Given the description of an element on the screen output the (x, y) to click on. 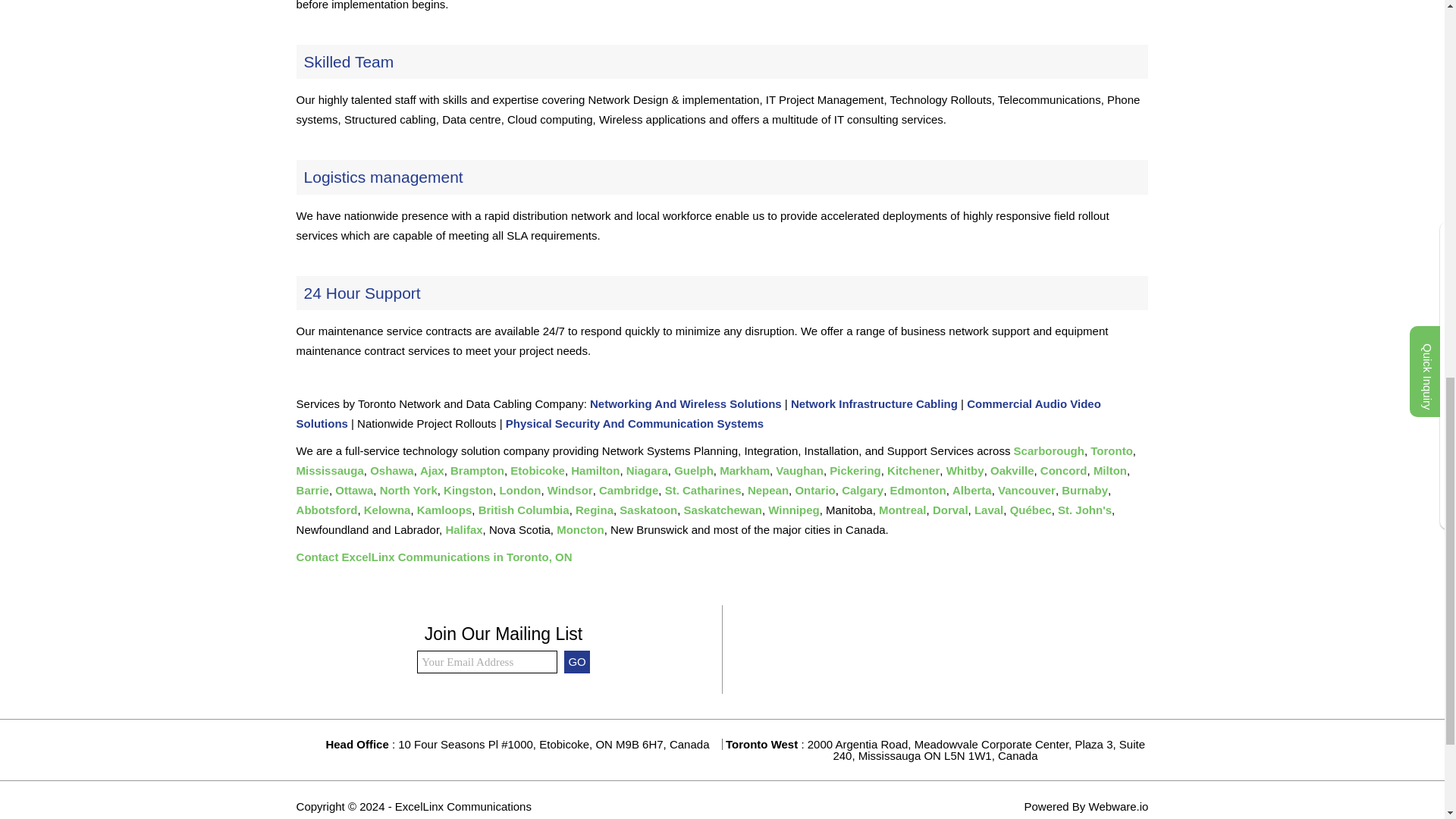
GO (576, 661)
Your Email Address (486, 661)
